Given the description of an element on the screen output the (x, y) to click on. 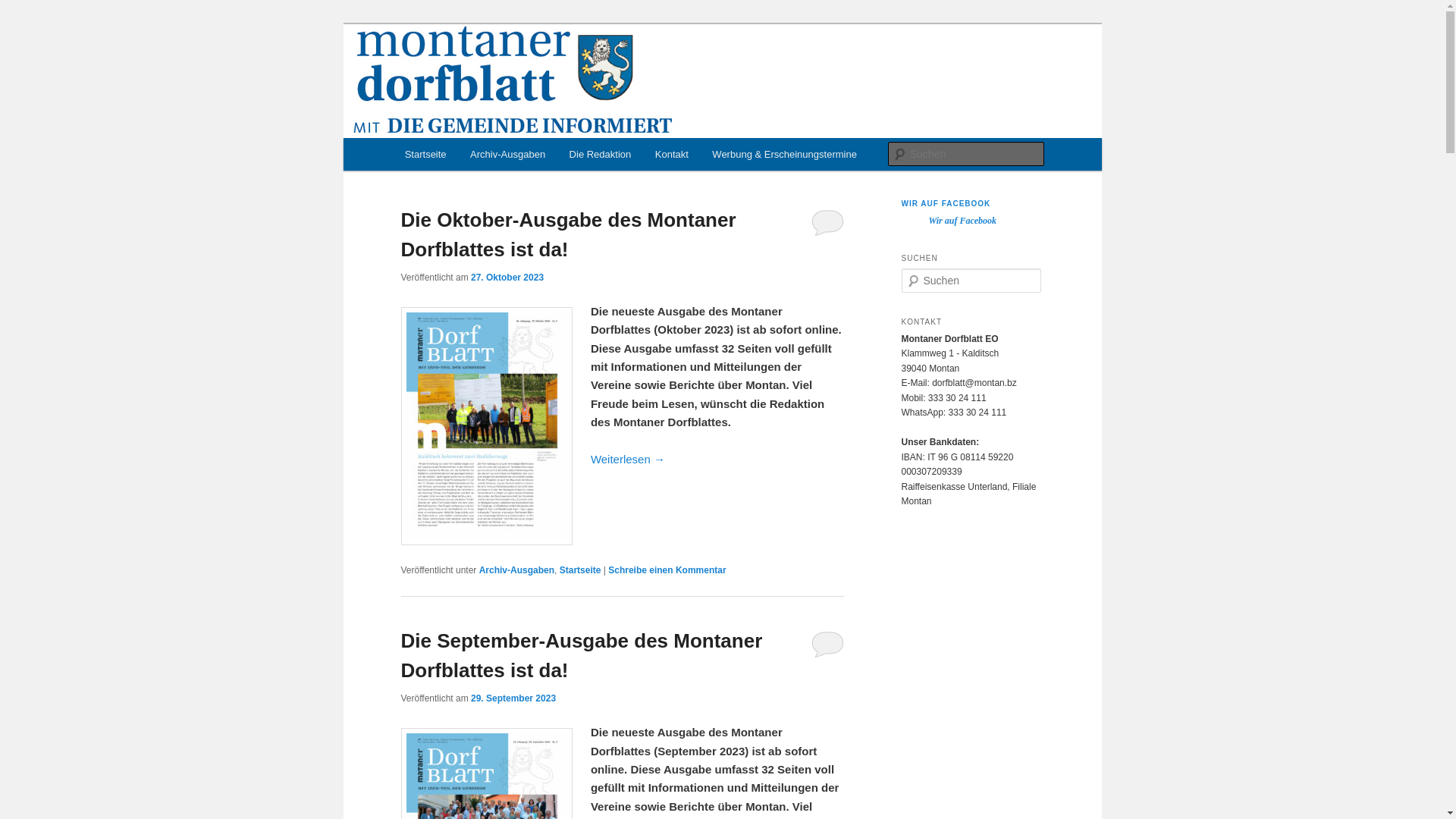
Die September-Ausgabe des Montaner Dorfblattes ist da! Element type: text (581, 655)
Kontakt Element type: text (671, 154)
29. September 2023 Element type: text (512, 698)
Startseite Element type: text (425, 154)
Startseite Element type: text (580, 569)
Die Oktober-Ausgabe des Montaner Dorfblattes ist da! Element type: text (567, 234)
Archiv-Ausgaben Element type: text (516, 569)
Archiv-Ausgaben Element type: text (507, 154)
Die Redaktion Element type: text (600, 154)
Suchen Element type: text (21, 10)
Suchen Element type: text (25, 8)
WIR AUF FACEBOOK Element type: text (945, 203)
Werbung & Erscheinungstermine Element type: text (784, 154)
Wir auf Facebook Element type: text (962, 220)
Schreibe einen Kommentar Element type: text (666, 569)
Zum Inhalt wechseln Element type: text (22, 22)
27. Oktober 2023 Element type: text (506, 276)
